Given the description of an element on the screen output the (x, y) to click on. 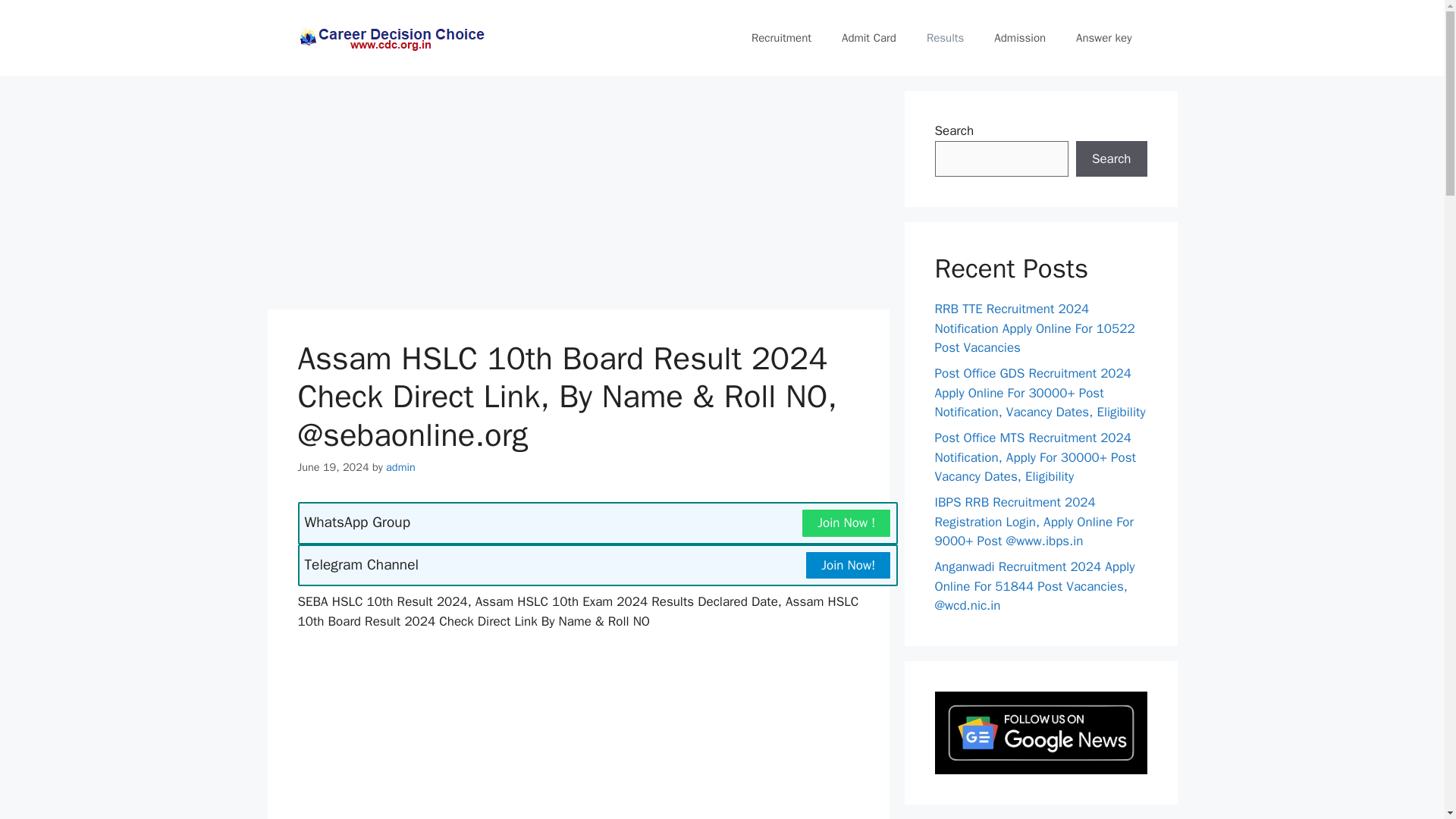
Join Now ! (845, 522)
Answer key (1104, 37)
Admission (1019, 37)
admin (399, 467)
Recruitment (781, 37)
Admit Card (869, 37)
Join Now ! (846, 522)
Join Now! (847, 565)
Advertisement (577, 196)
Join Now! (848, 565)
View all posts by admin (399, 467)
Advertisement (578, 734)
Results (944, 37)
Search (1111, 158)
